Given the description of an element on the screen output the (x, y) to click on. 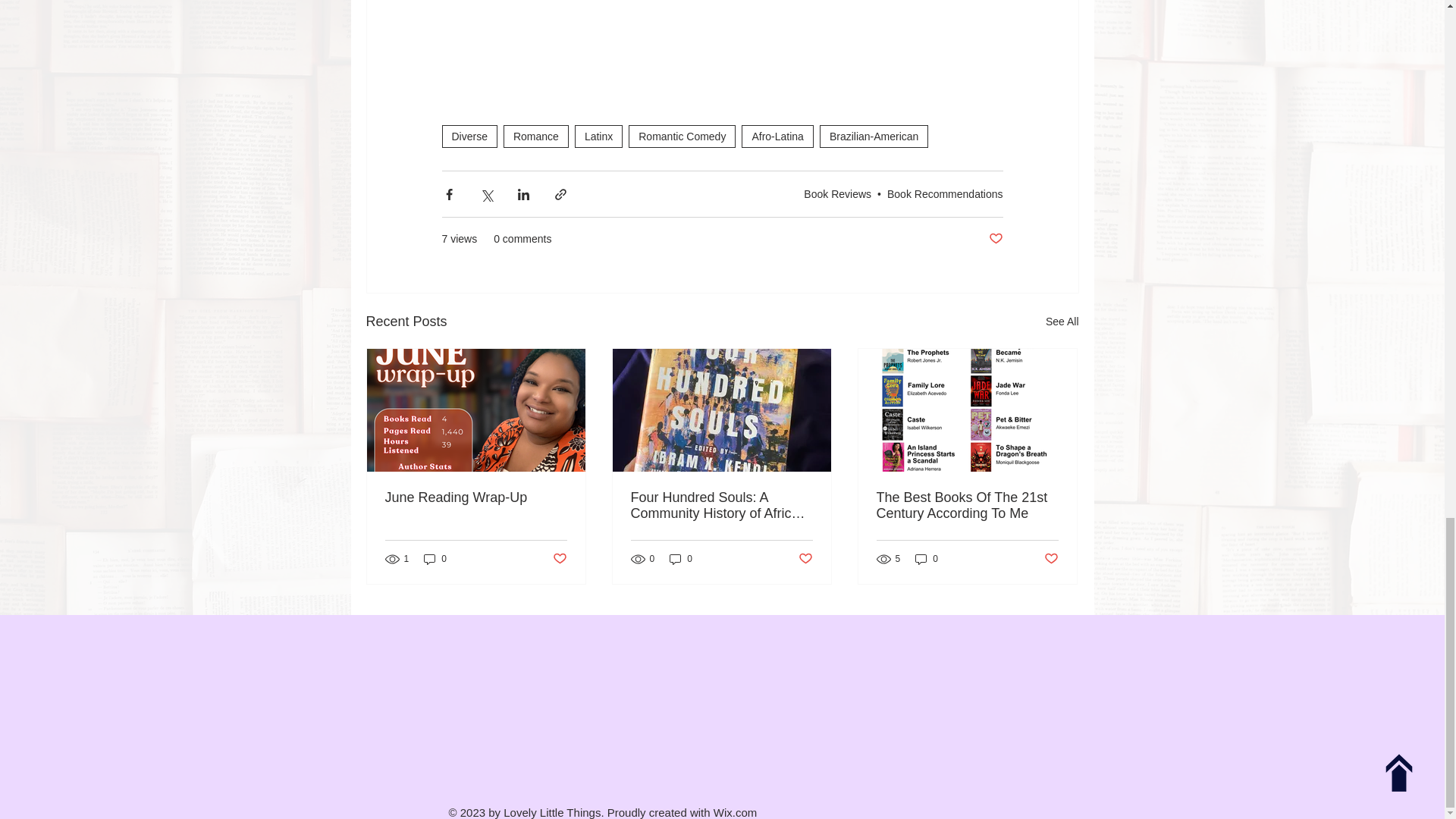
Post not marked as liked (995, 238)
Post not marked as liked (804, 559)
Latinx (599, 136)
The Best Books Of The 21st Century According To Me (967, 505)
0 (926, 558)
Post not marked as liked (558, 559)
Afro-Latina (776, 136)
0 (681, 558)
Diverse (468, 136)
Romantic Comedy (681, 136)
June Reading Wrap-Up (476, 497)
Brazilian-American (873, 136)
Book Reviews (836, 193)
Romance (536, 136)
